Given the description of an element on the screen output the (x, y) to click on. 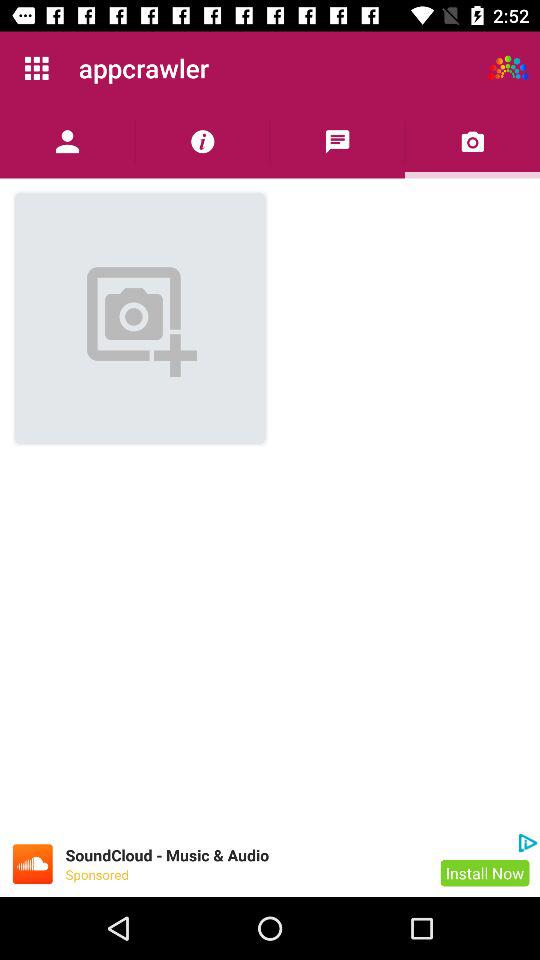
send message (337, 141)
